Given the description of an element on the screen output the (x, y) to click on. 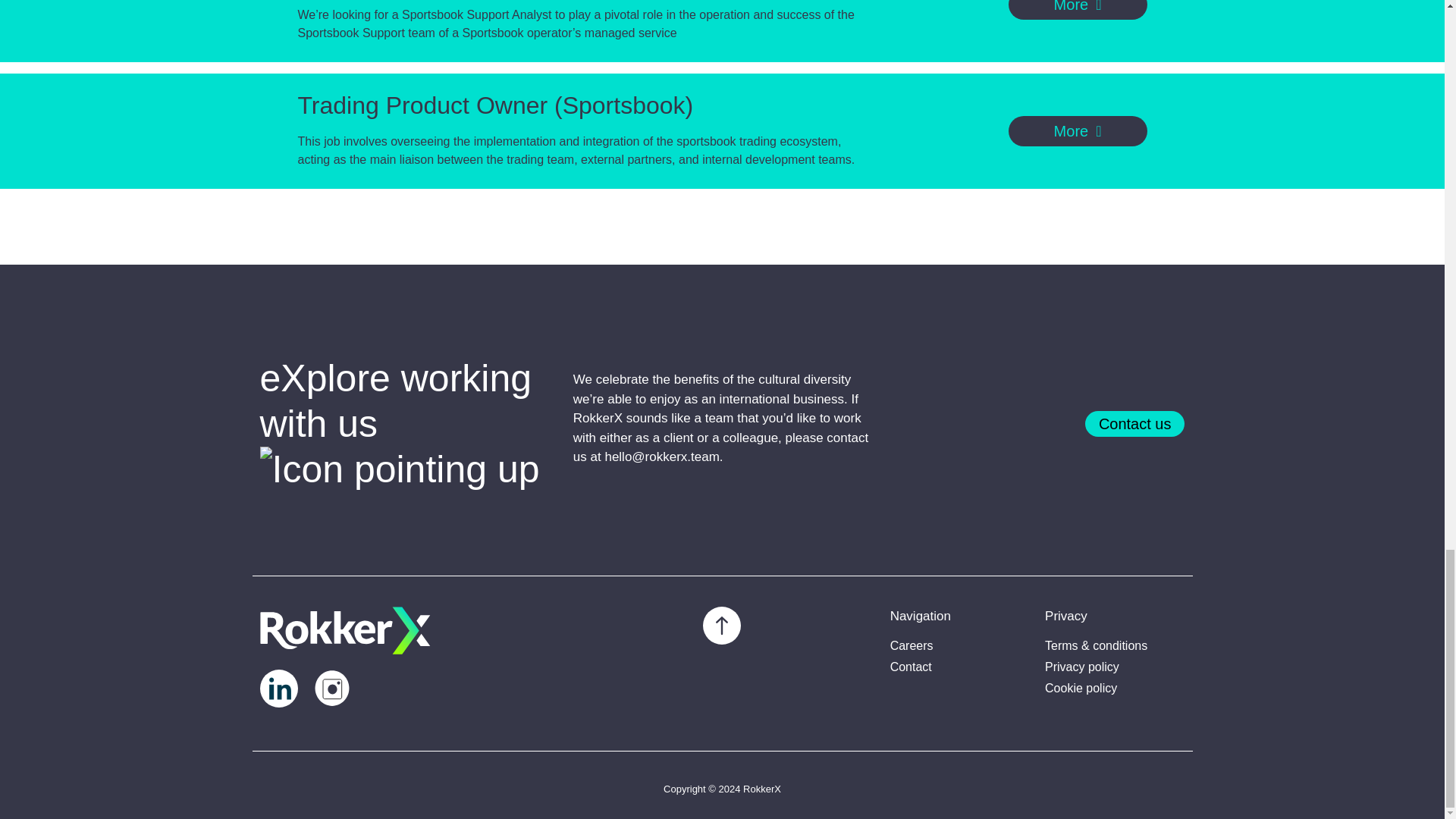
Contact us (1134, 423)
More (1078, 9)
Contact (959, 667)
Privacy policy (1115, 667)
Careers (959, 646)
Cookie policy (1115, 688)
More (1078, 131)
